Given the description of an element on the screen output the (x, y) to click on. 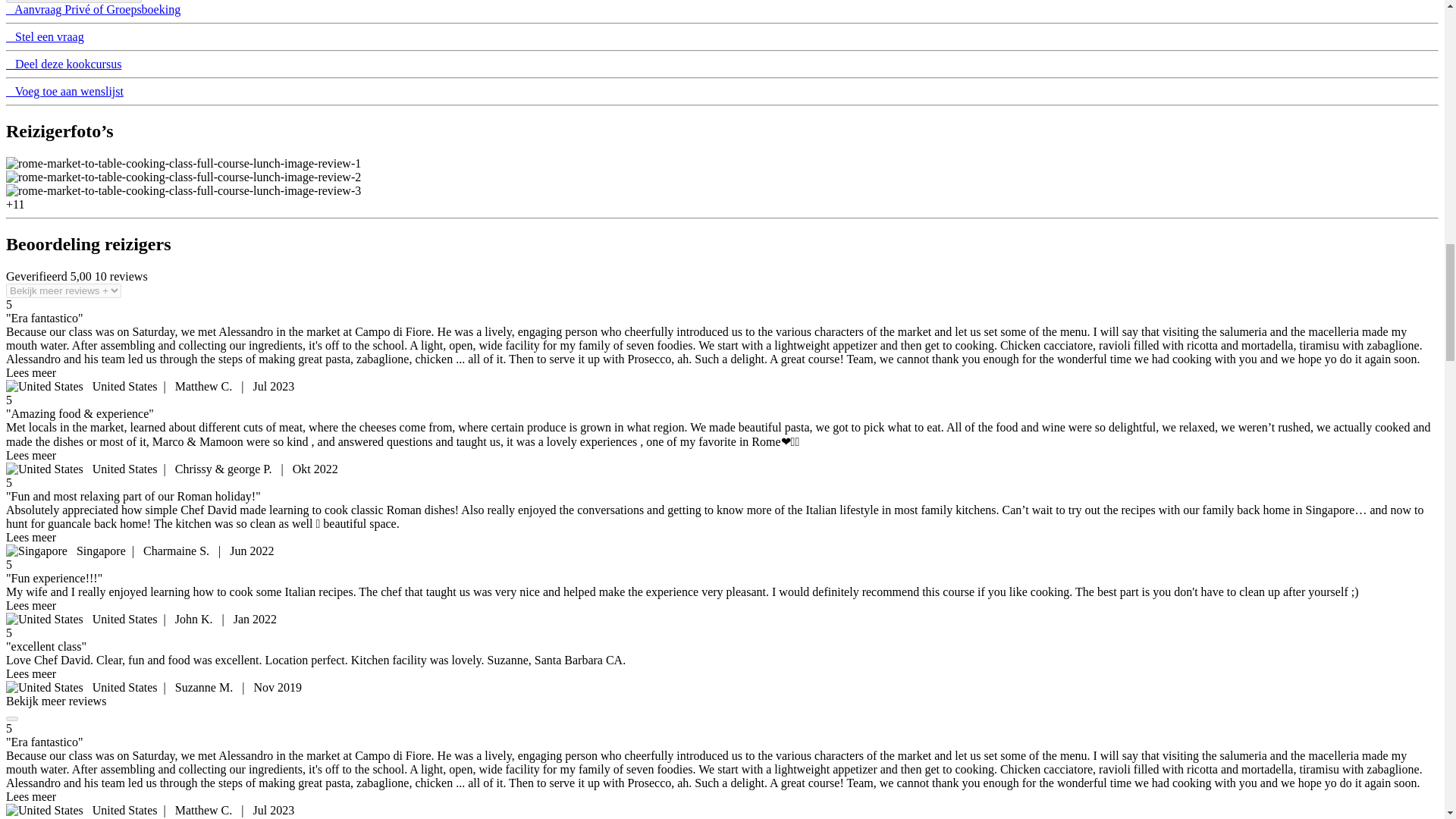
   Voeg toe aan wenslijst (64, 91)
   Stel een vraag (44, 36)
   Deel deze kookcursus (62, 63)
Controleer beschikbaarheid (73, 1)
